Given the description of an element on the screen output the (x, y) to click on. 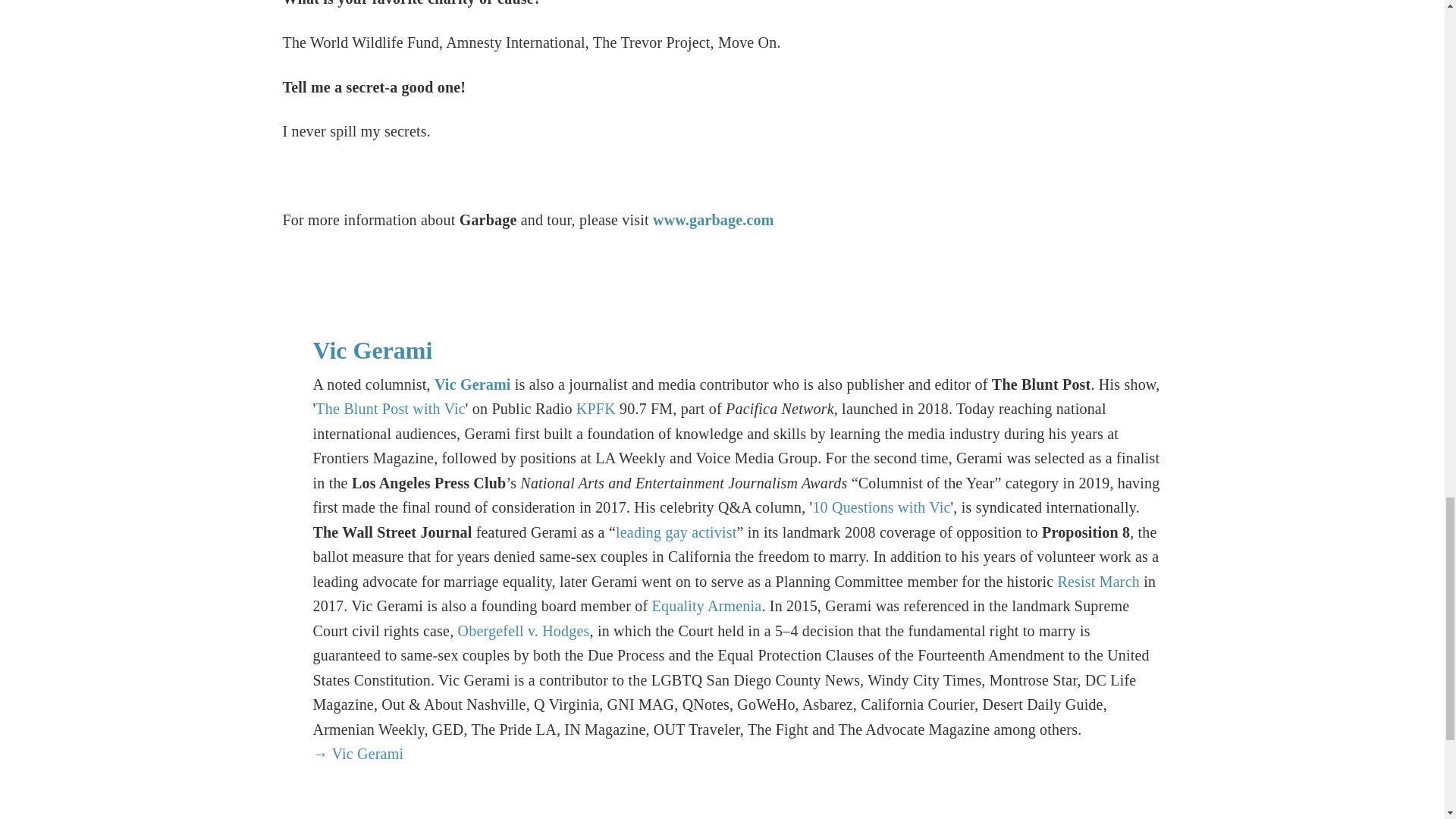
Resist March (1098, 581)
www.garbage.com (713, 219)
KPFK (595, 408)
Vic Gerami (372, 349)
Vic Gerami (472, 384)
10 Questions with Vic (881, 506)
Equality Armenia (706, 605)
leading gay activist (675, 532)
Obergefell v. Hodges (523, 630)
The Blunt Post with Vic (389, 408)
